Given the description of an element on the screen output the (x, y) to click on. 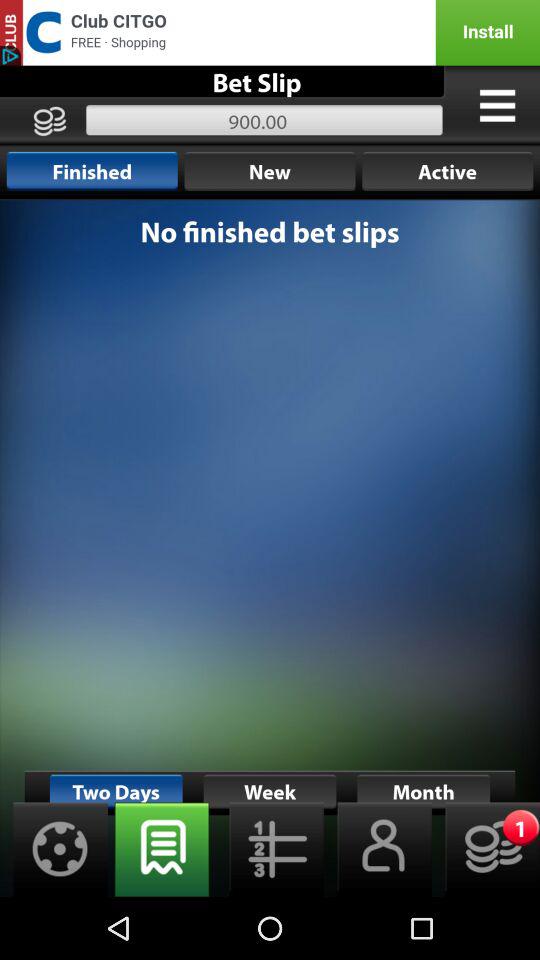
sightings (54, 849)
